Given the description of an element on the screen output the (x, y) to click on. 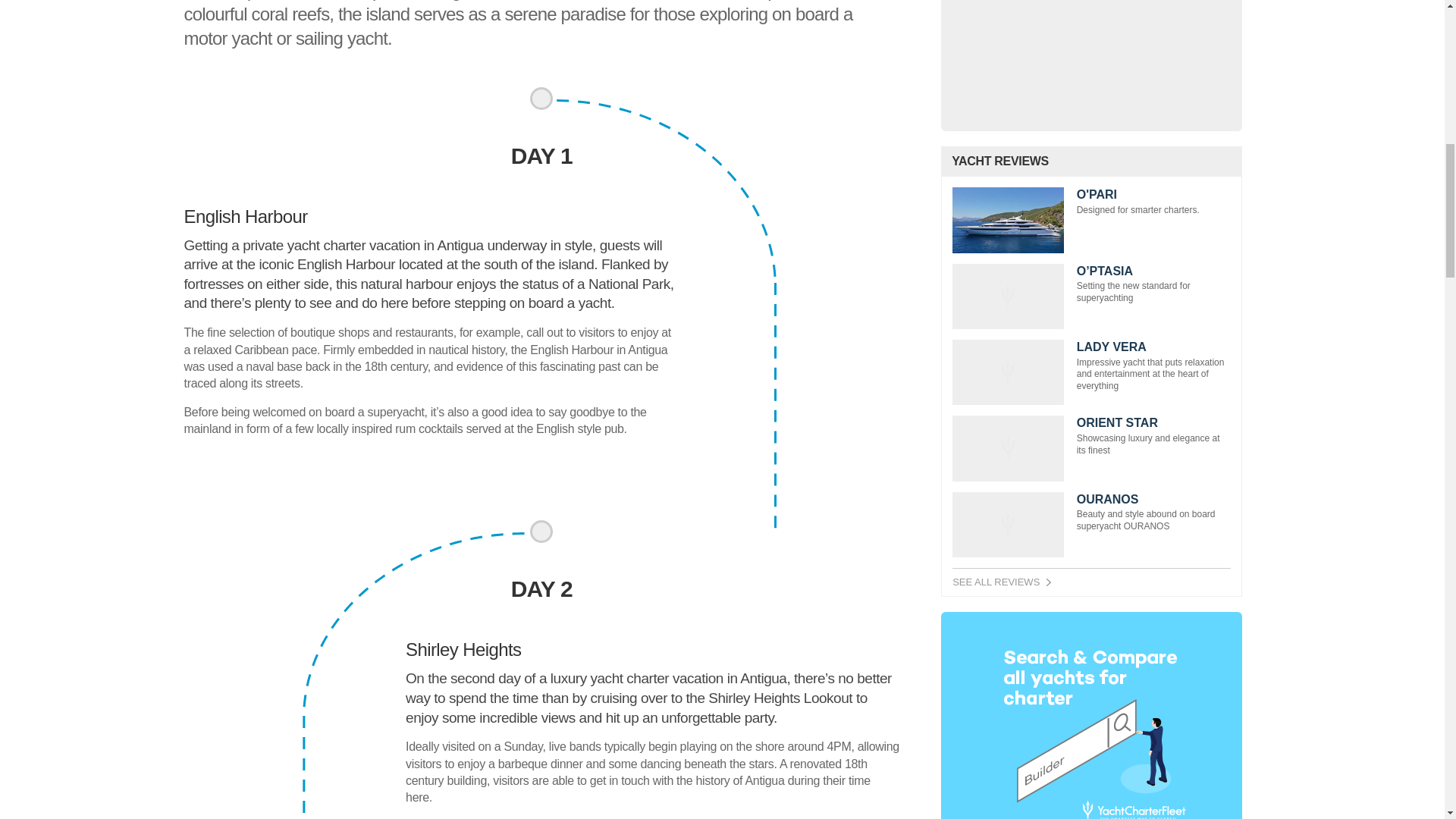
Donate Now (1090, 47)
